Given the description of an element on the screen output the (x, y) to click on. 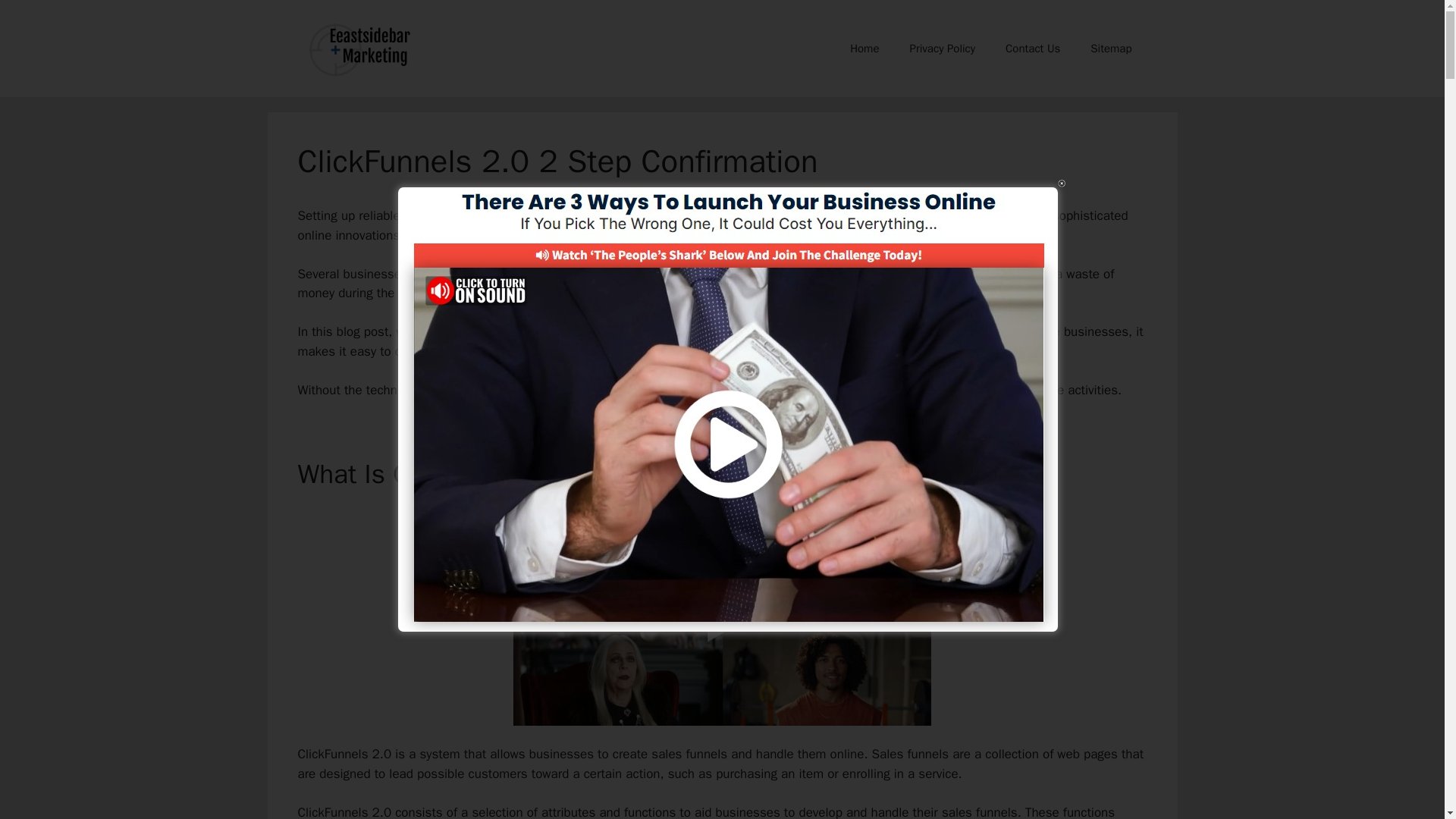
Home (863, 48)
Sitemap (1111, 48)
Privacy Policy (941, 48)
Contact Us (1032, 48)
